Given the description of an element on the screen output the (x, y) to click on. 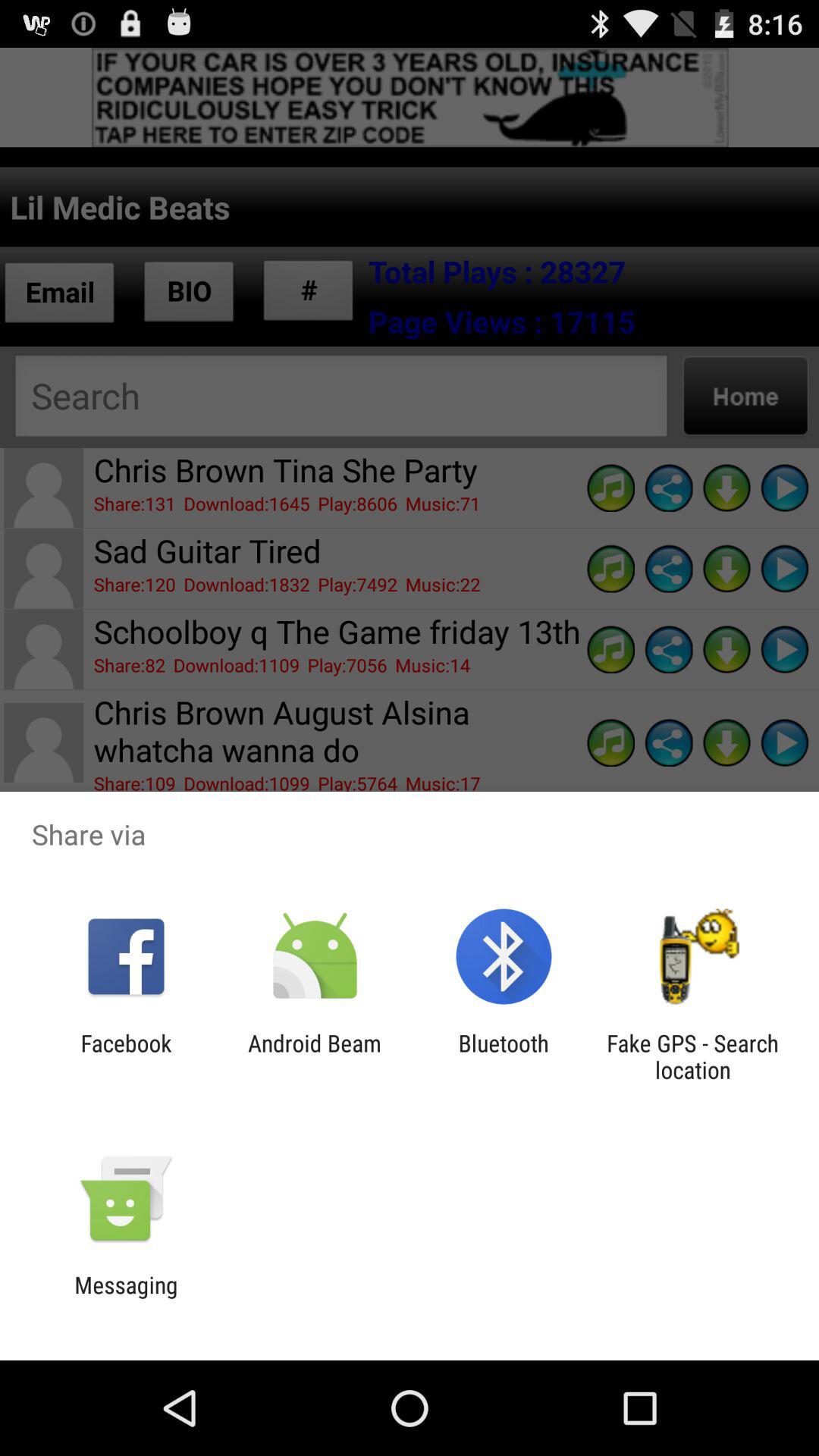
turn off the app next to the android beam item (503, 1056)
